Given the description of an element on the screen output the (x, y) to click on. 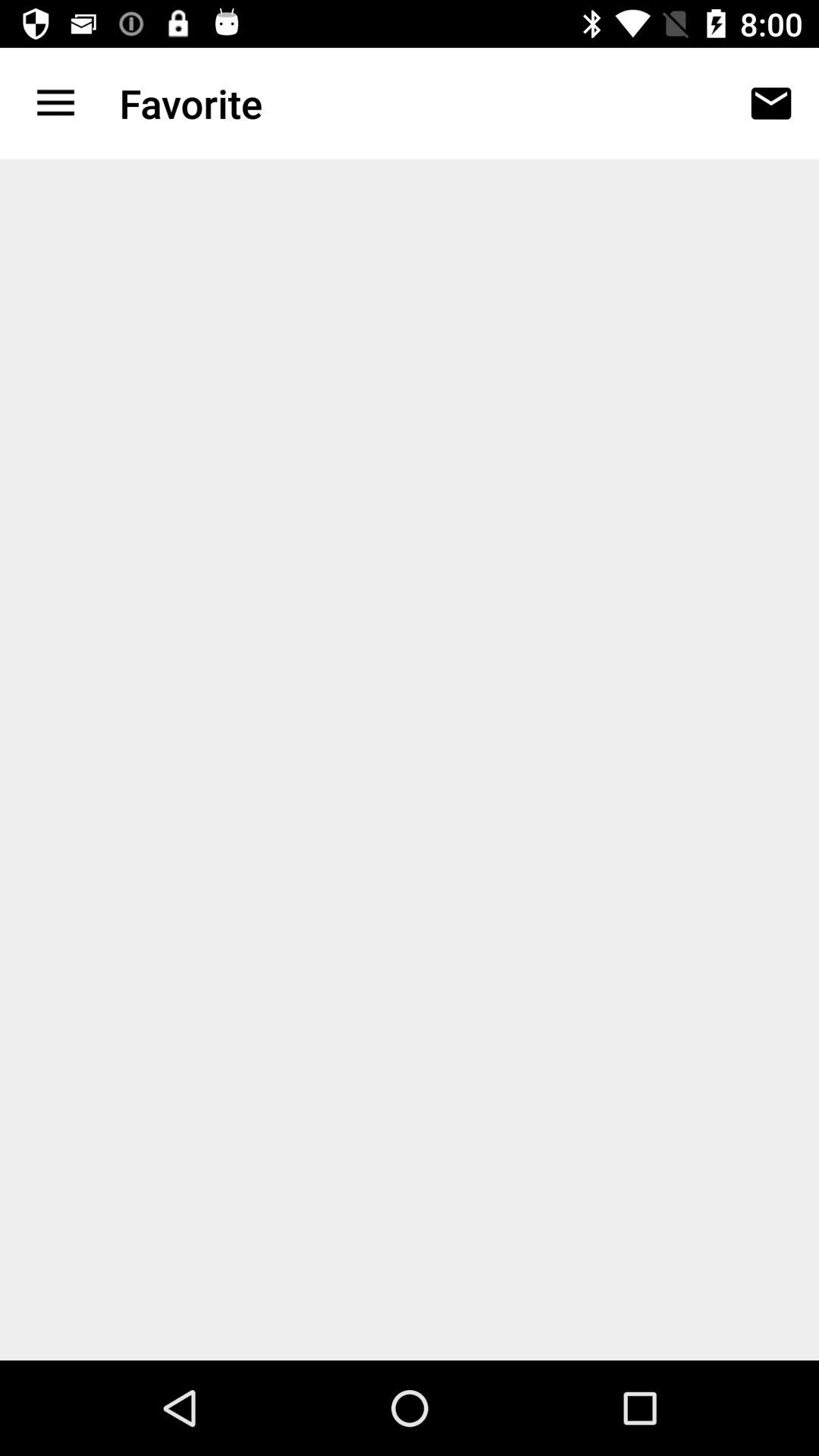
turn on the icon to the right of favorite (771, 103)
